Given the description of an element on the screen output the (x, y) to click on. 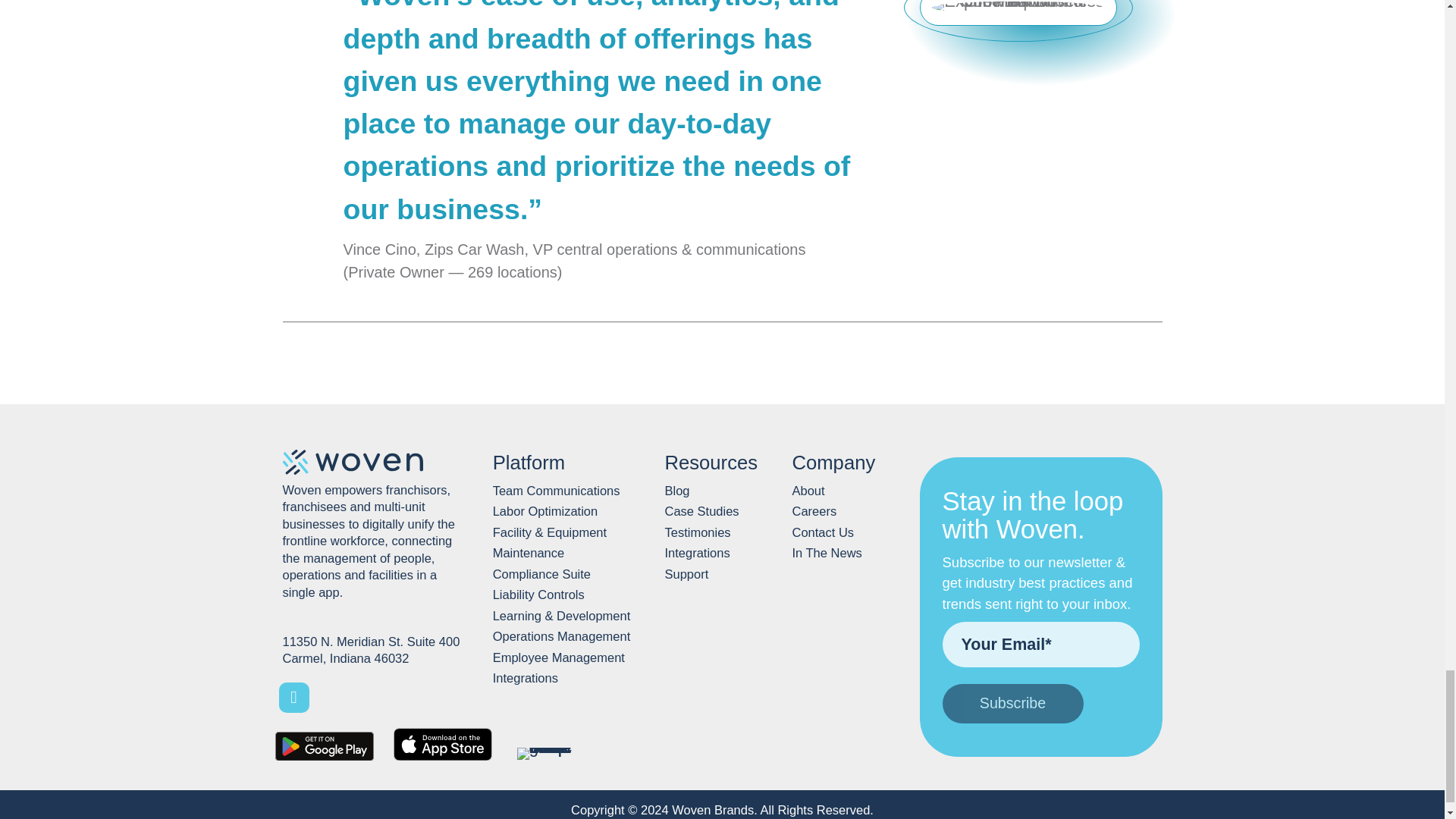
zips-logo Platform Page (1017, 7)
Subscribe (1012, 703)
IFA-Blue (547, 753)
